Given the description of an element on the screen output the (x, y) to click on. 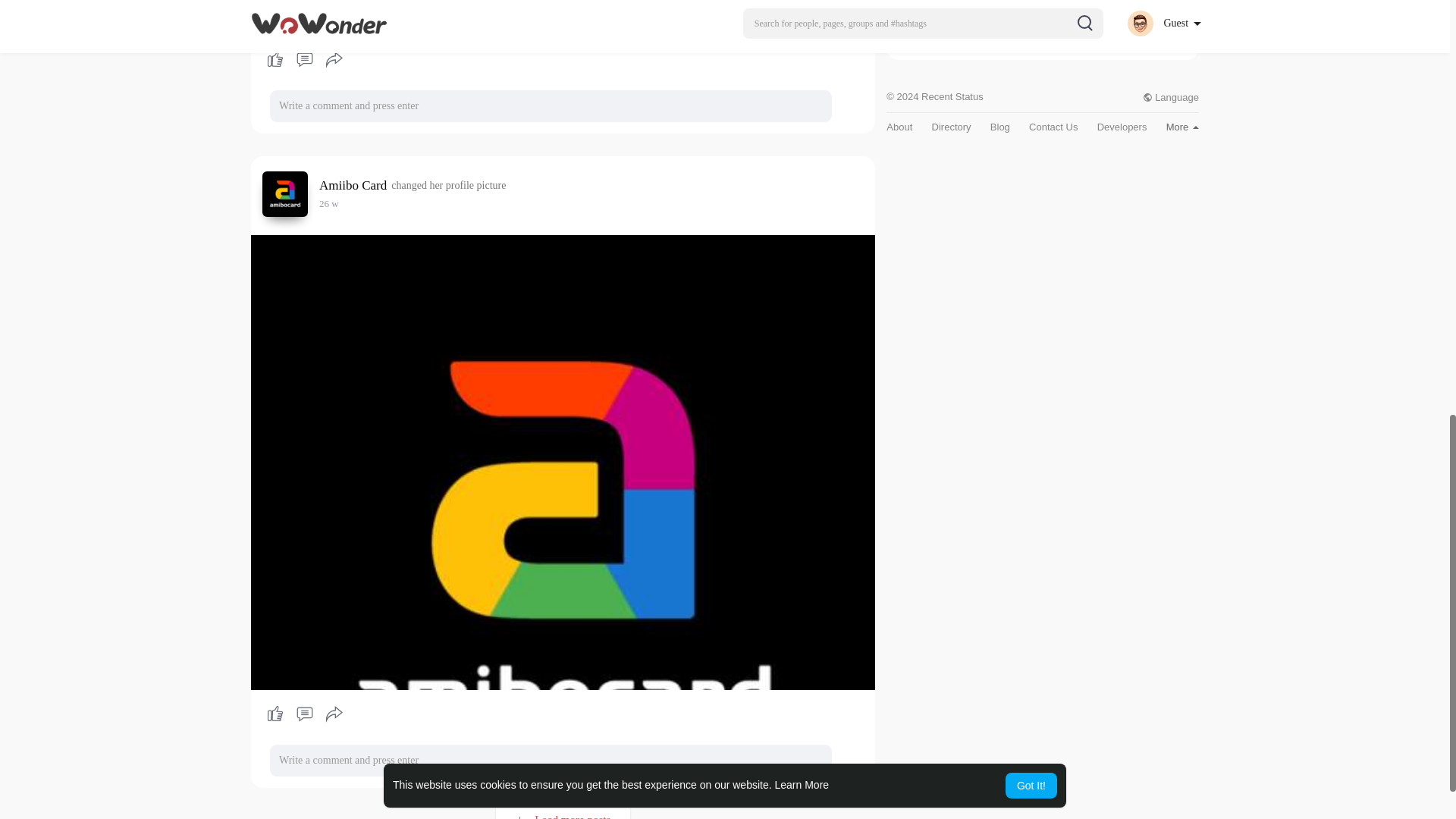
26 w (328, 203)
Contact Us (1053, 126)
More (1182, 126)
About (899, 126)
Amiibo Card (354, 185)
26 w (328, 203)
Share (334, 59)
Comments (304, 714)
Language (1170, 97)
Comments (304, 59)
Share (334, 714)
Developers (1122, 126)
Blog (1000, 126)
Directory (951, 126)
Groups (914, 36)
